Given the description of an element on the screen output the (x, y) to click on. 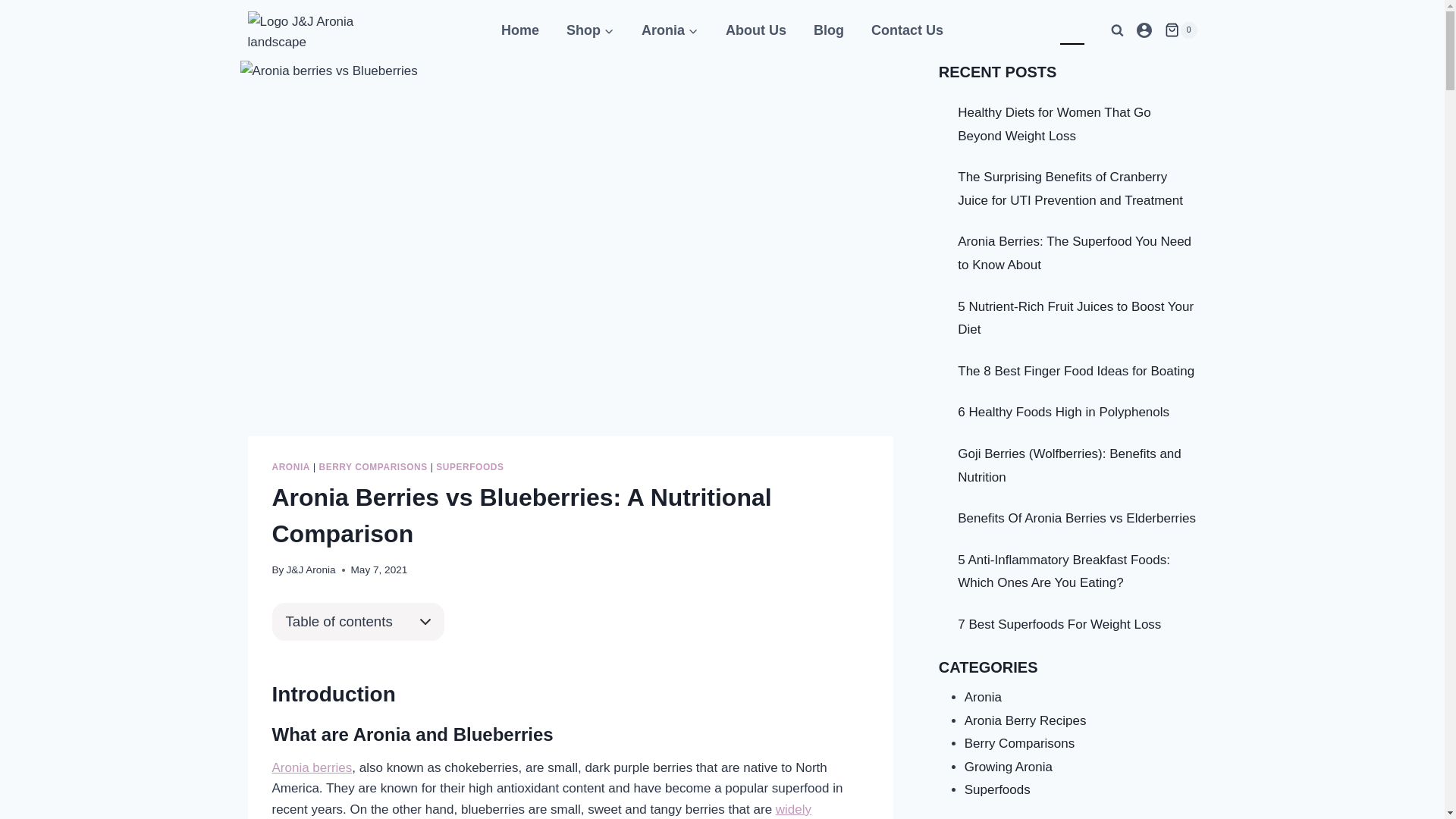
7 Best Superfoods For Weight Loss Element type: text (1059, 624)
Blog Element type: text (828, 30)
Contact Us Element type: text (907, 30)
Home Element type: text (519, 30)
Aronia Element type: text (982, 697)
6 Healthy Foods High in Polyphenols Element type: text (1063, 411)
The 8 Best Finger Food Ideas for Boating Element type: text (1075, 371)
SUPERFOODS Element type: text (469, 466)
Canada Element type: hover (1072, 30)
ARONIA Element type: text (290, 466)
Aronia Element type: text (669, 30)
About Us Element type: text (756, 30)
My Account Element type: hover (1144, 30)
United States Element type: hover (1040, 30)
Benefits Of Aronia Berries vs Elderberries Element type: text (1076, 518)
J&J Aronia Element type: text (310, 569)
0 Element type: text (1180, 29)
Aronia berries Element type: text (311, 767)
Aronia Berry Recipes Element type: text (1025, 720)
Aronia Berries: The Superfood You Need to Know About Element type: text (1074, 253)
Healthy Diets for Women That Go Beyond Weight Loss Element type: text (1053, 124)
Berry Comparisons Element type: text (1019, 743)
Goji Berries (Wolfberries): Benefits and Nutrition Element type: text (1068, 465)
Growing Aronia Element type: text (1008, 766)
Shop Element type: text (589, 30)
BERRY COMPARISONS Element type: text (372, 466)
Superfoods Element type: text (997, 789)
5 Nutrient-Rich Fruit Juices to Boost Your Diet Element type: text (1075, 318)
